Given the description of an element on the screen output the (x, y) to click on. 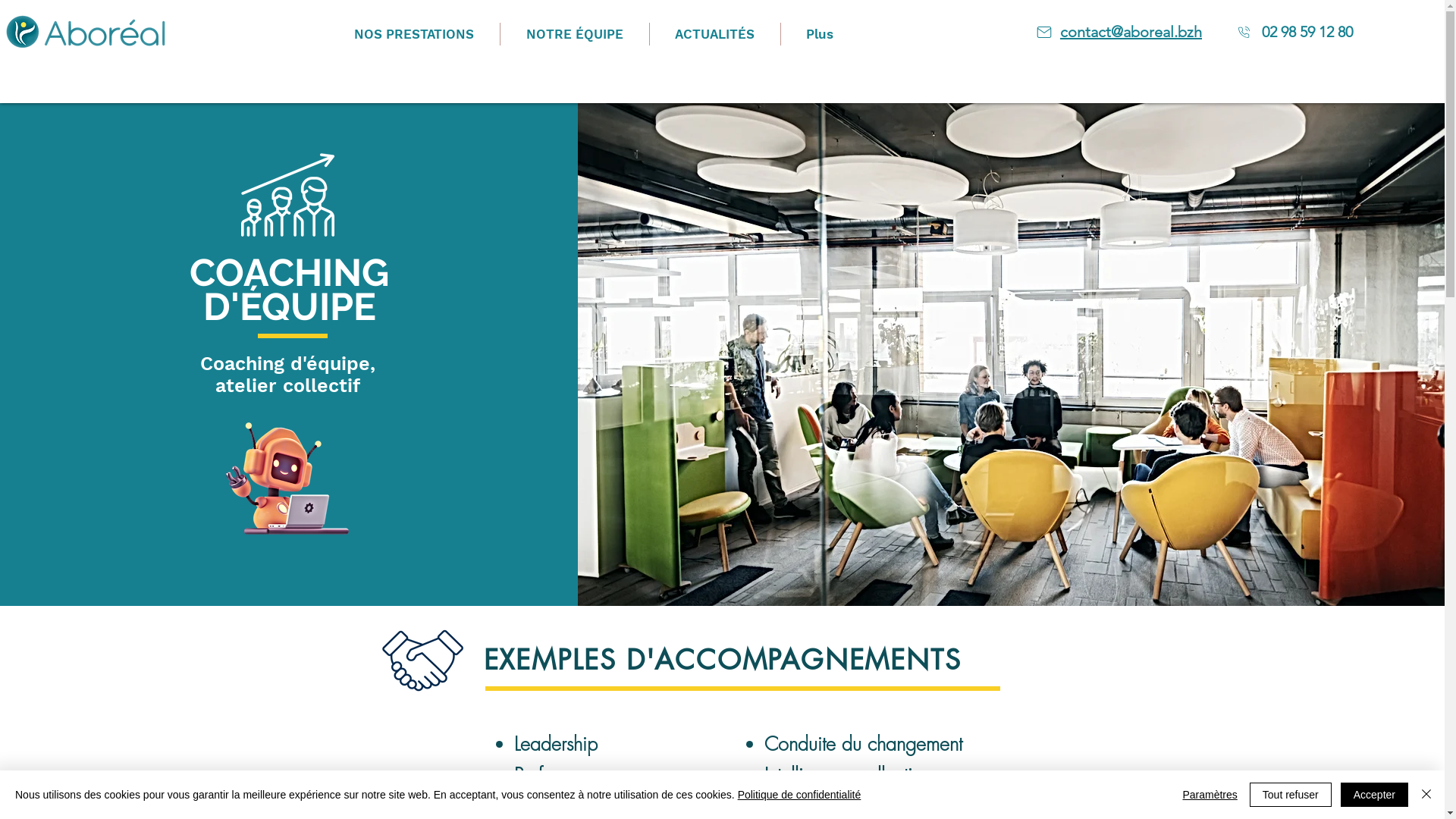
Tout refuser Element type: text (1290, 794)
Accepter Element type: text (1374, 794)
02 98 59 12 80 Element type: text (1306, 33)
contact@aboreal.bzh Element type: text (1130, 33)
NOS PRESTATIONS Element type: text (412, 33)
